Given the description of an element on the screen output the (x, y) to click on. 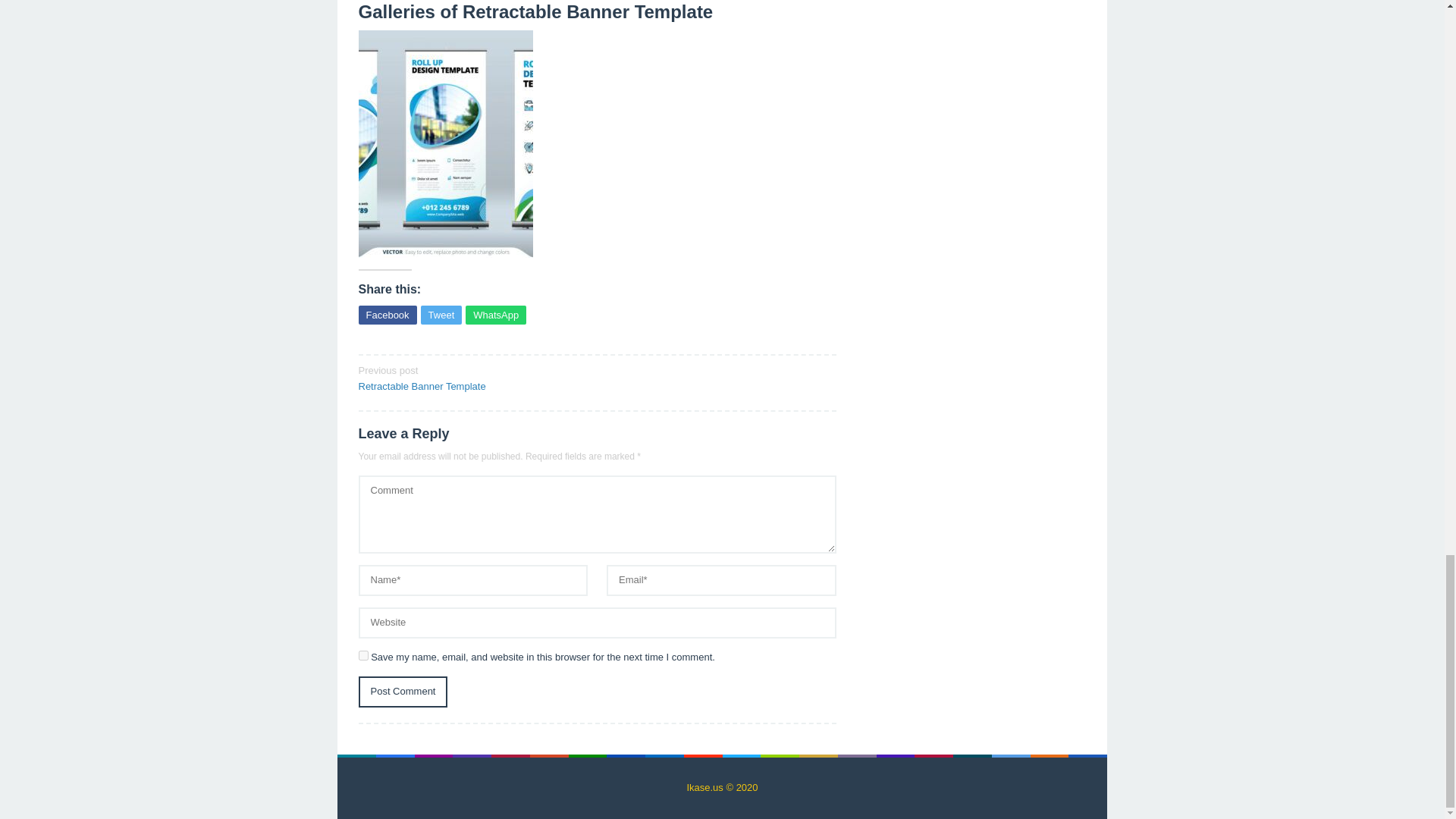
Post Comment (402, 691)
Tweet (441, 314)
WhatsApp this (495, 314)
Facebook (387, 314)
yes (363, 655)
Post Comment (402, 691)
Tweet this (441, 314)
WhatsApp (495, 314)
Share this (387, 314)
